Given the description of an element on the screen output the (x, y) to click on. 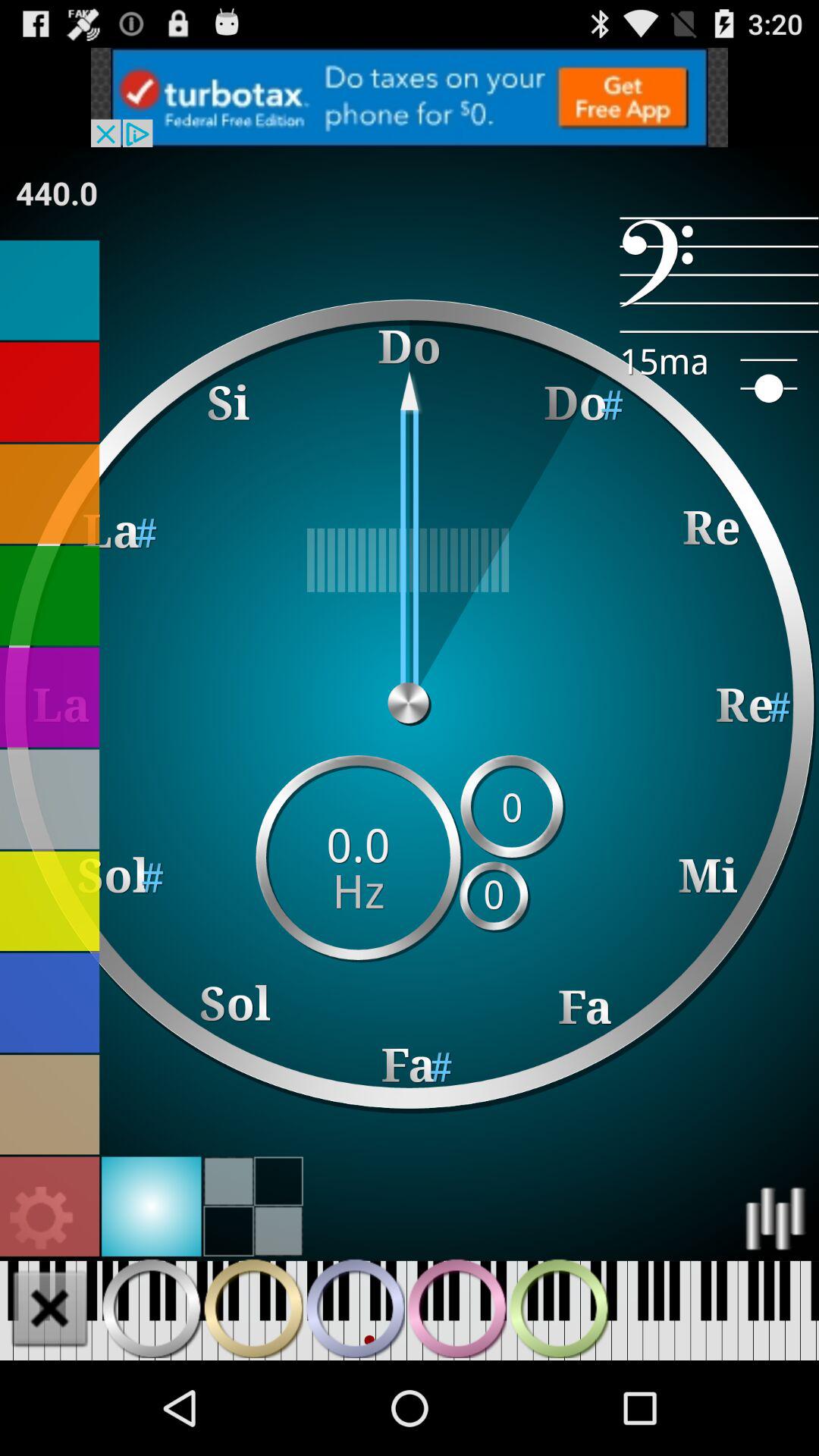
eliminates the highlighted section of keys (49, 1308)
